Given the description of an element on the screen output the (x, y) to click on. 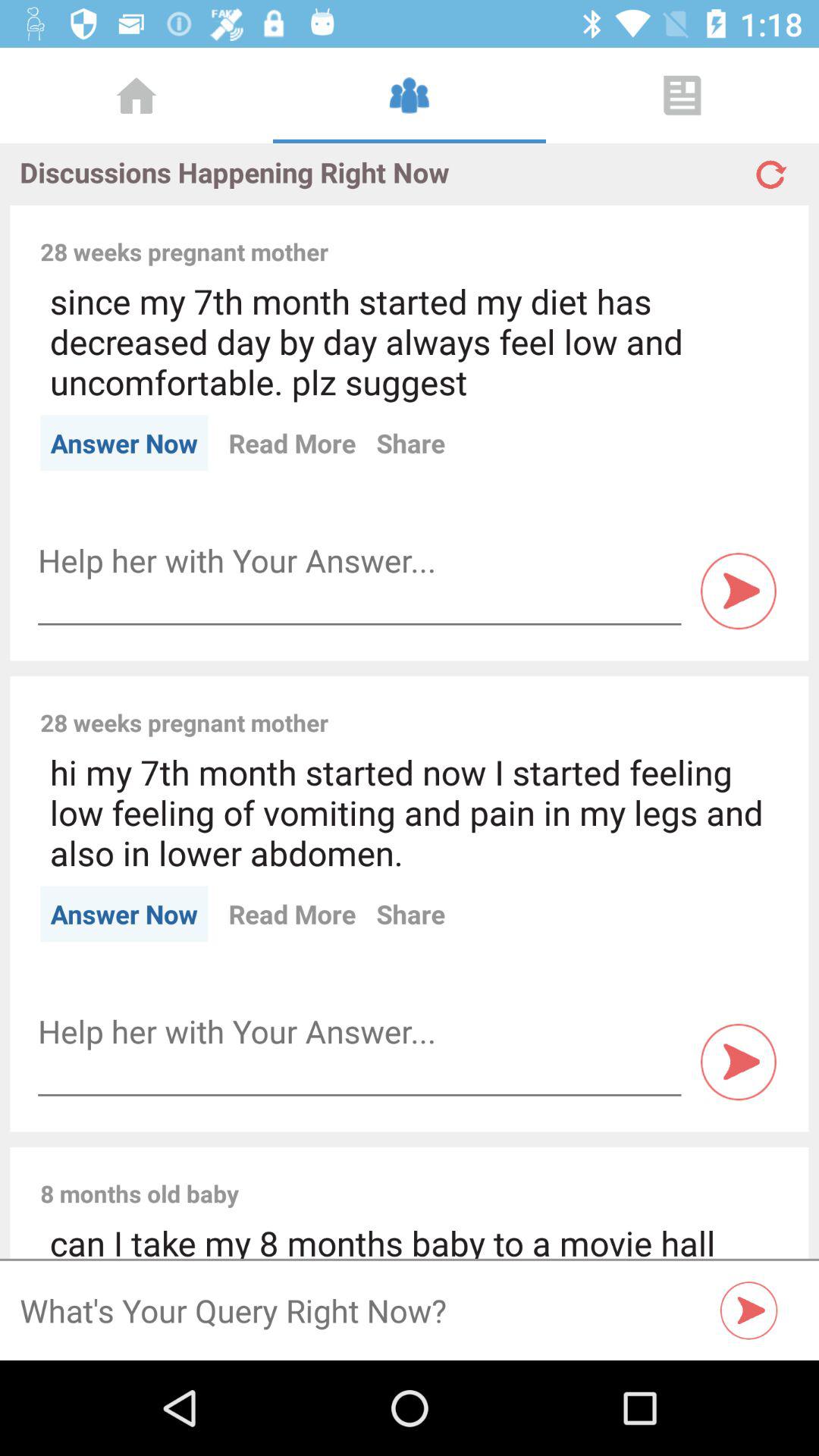
refresh the page (768, 168)
